Given the description of an element on the screen output the (x, y) to click on. 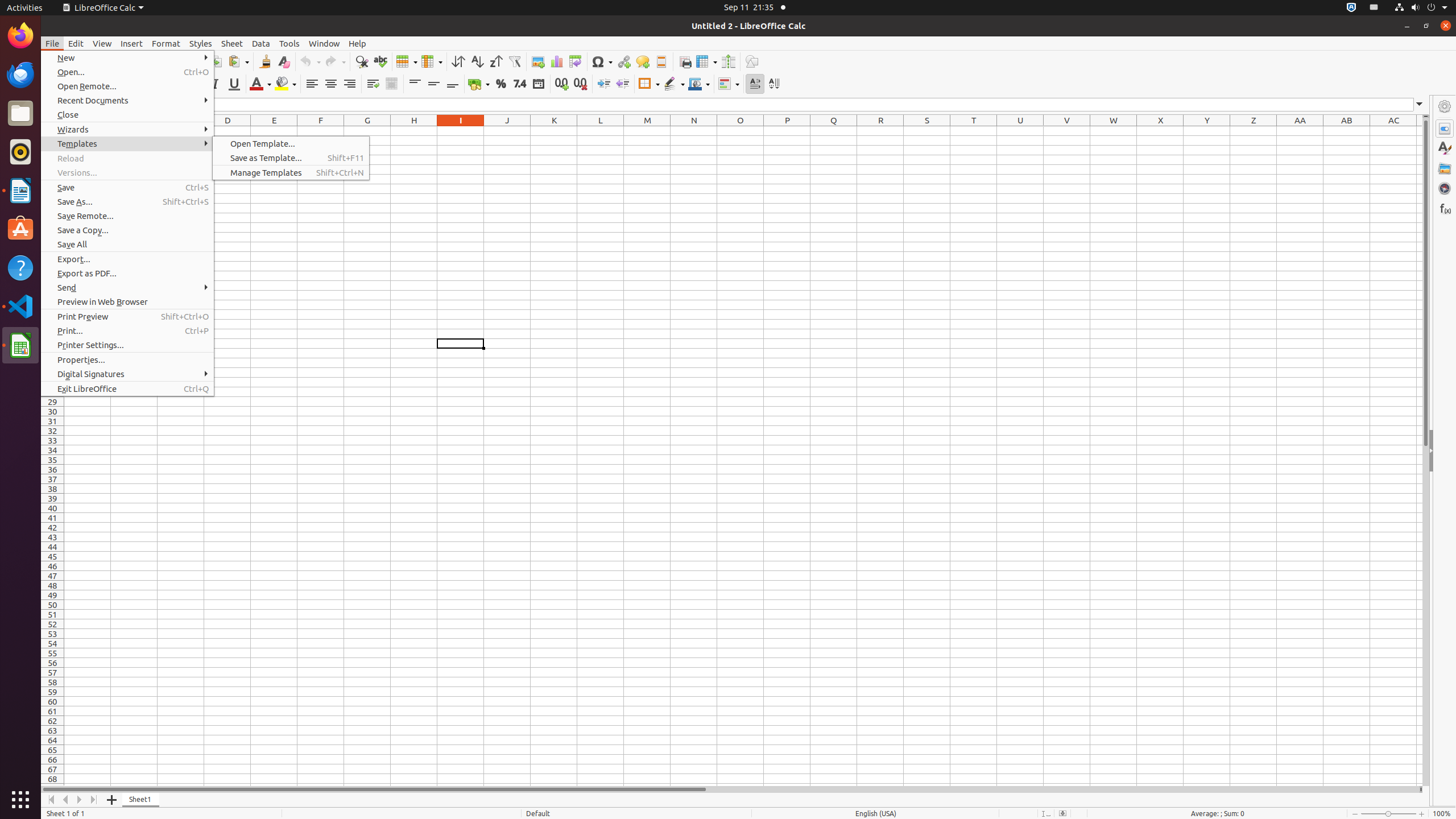
Print... Element type: menu-item (126, 330)
I1 Element type: table-cell (460, 130)
Save Element type: menu-item (126, 187)
Currency Element type: push-button (478, 83)
Undo Element type: push-button (309, 61)
